Given the description of an element on the screen output the (x, y) to click on. 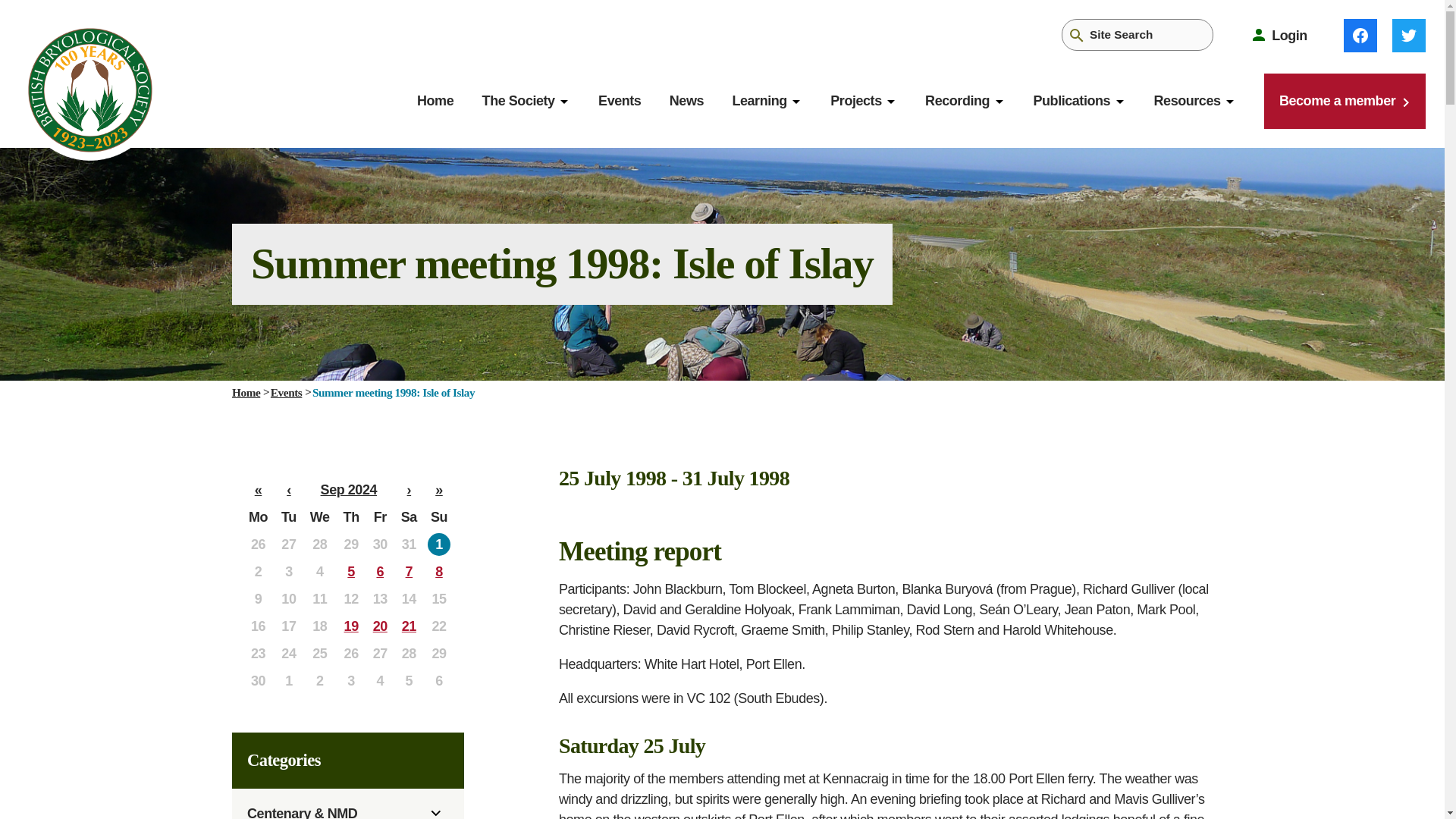
Learning (759, 100)
Facebook (1360, 35)
Submit (1076, 35)
Login (1278, 35)
Home (434, 100)
News (686, 100)
Projects (854, 100)
Recording (957, 100)
Twitter (1408, 35)
Events (619, 100)
